Given the description of an element on the screen output the (x, y) to click on. 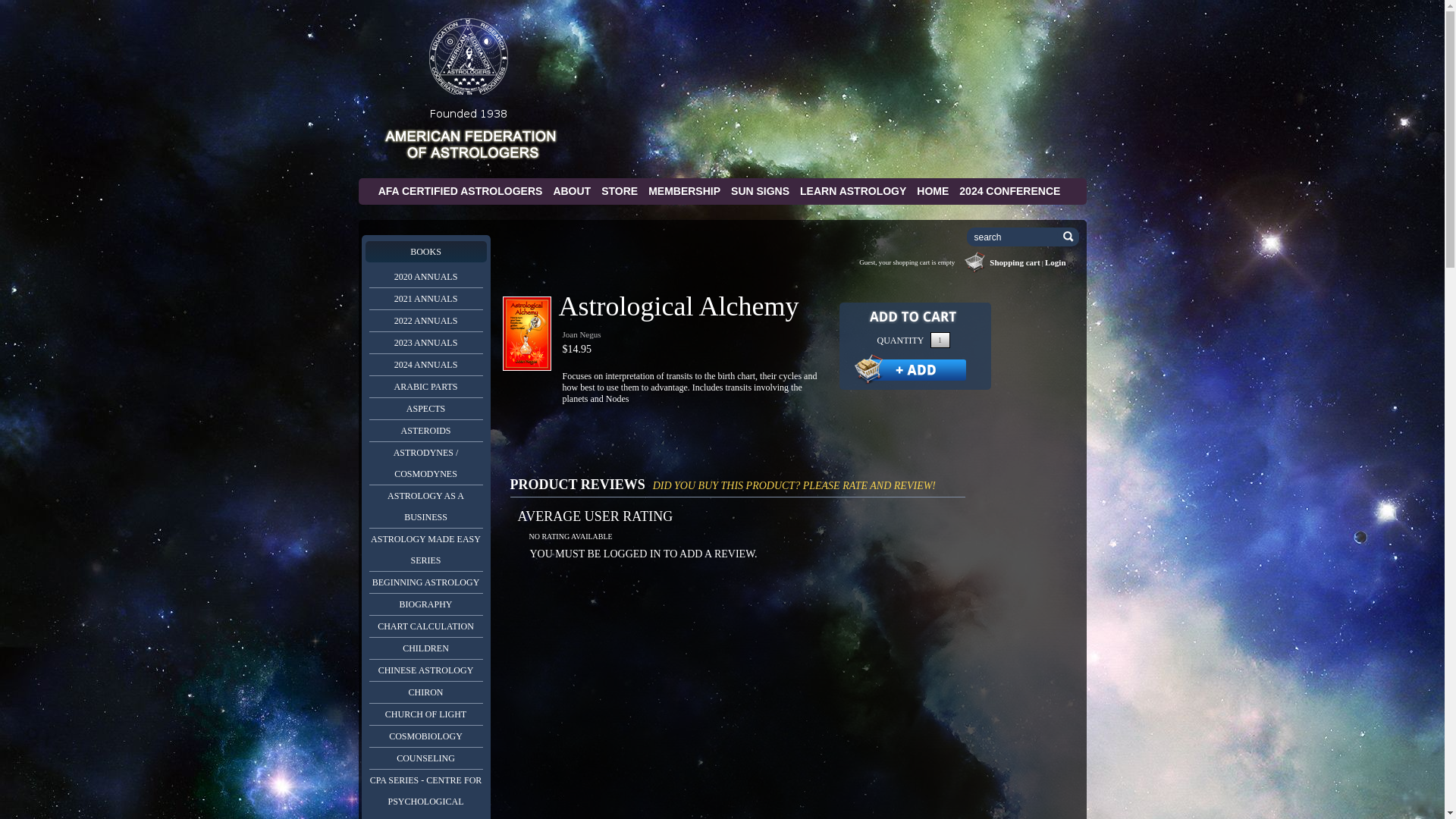
BOOKS (425, 251)
2024 CONFERENCE (1009, 191)
2024 ANNUALS (424, 364)
Shopping cart (1014, 261)
LEARN ASTROLOGY (852, 191)
2021 ANNUALS (424, 298)
Login (1055, 261)
2020 ANNUALS (424, 276)
SUN SIGNS (759, 191)
2023 ANNUALS (424, 342)
STORE (619, 191)
ABOUT (572, 191)
AFA CERTIFIED ASTROLOGERS (460, 191)
HOME (933, 191)
2022 ANNUALS (424, 320)
